Given the description of an element on the screen output the (x, y) to click on. 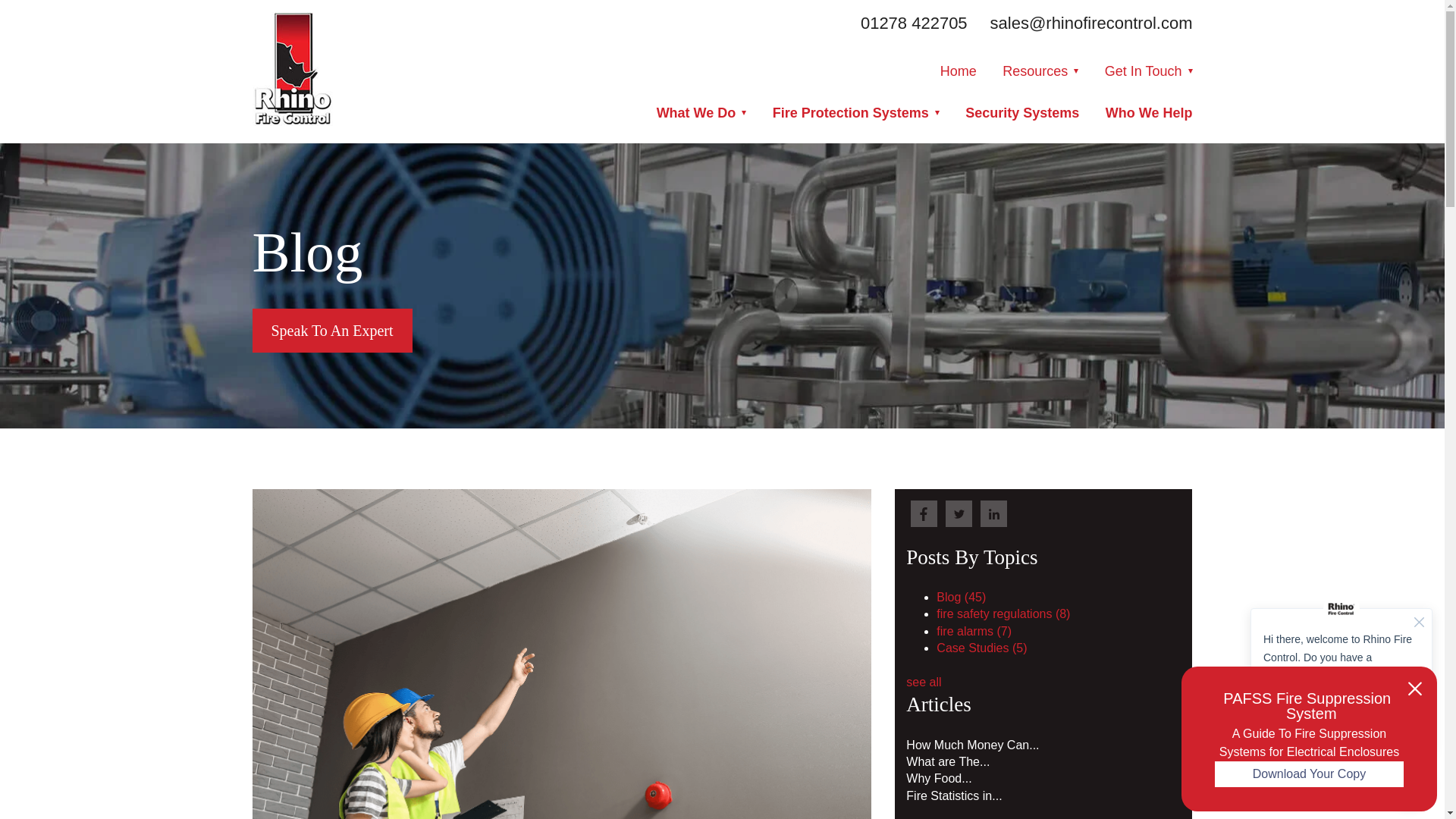
Who We Help (1148, 112)
Popup CTA (1308, 738)
Speak To An Expert (331, 330)
Home (958, 70)
Resources (1040, 70)
Fire Protection Systems (856, 112)
What We Do (701, 112)
Security Systems (1021, 112)
01278 422705 (914, 22)
Get In Touch (1148, 70)
